Given the description of an element on the screen output the (x, y) to click on. 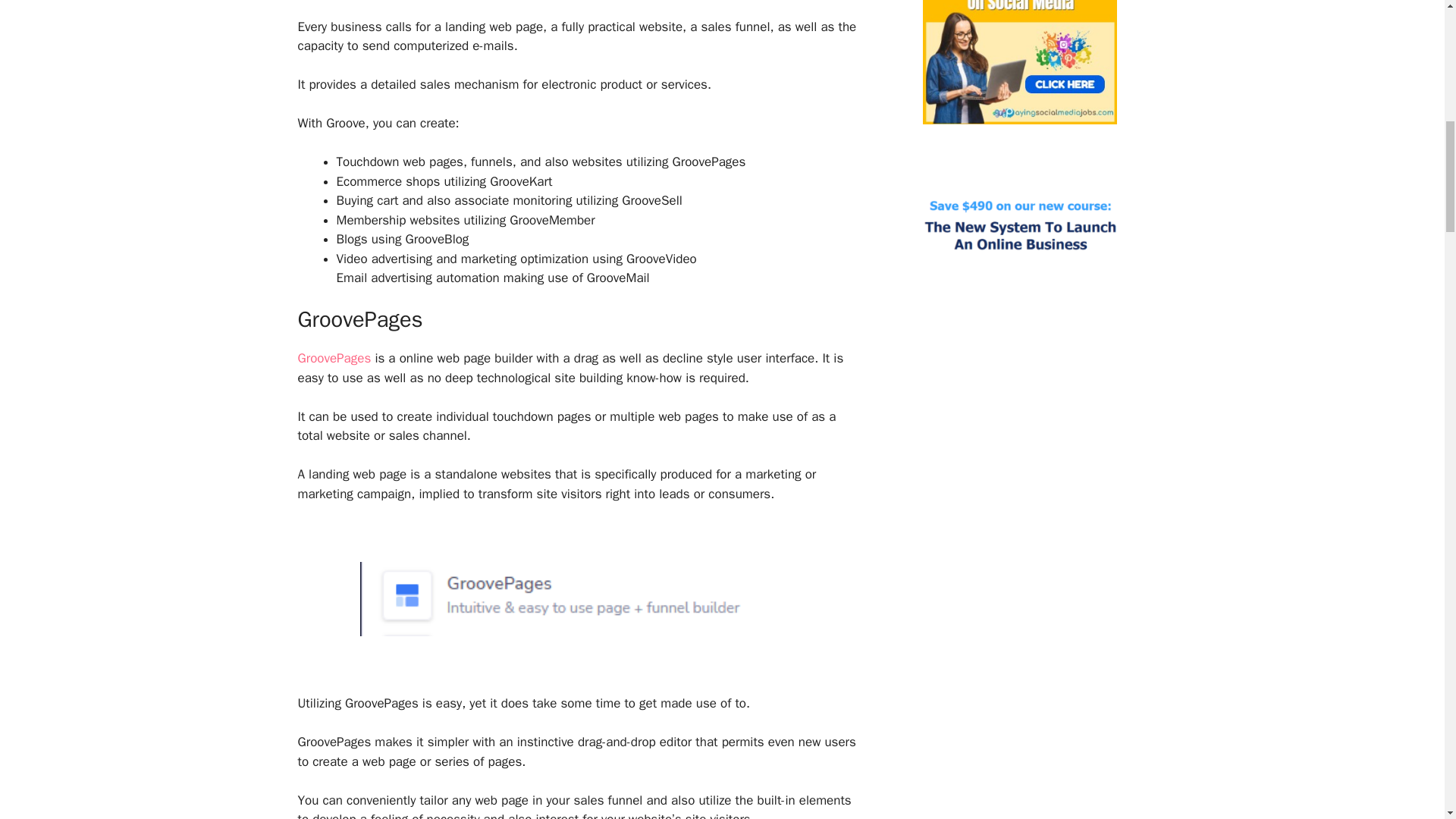
GroovePages (334, 358)
